Given the description of an element on the screen output the (x, y) to click on. 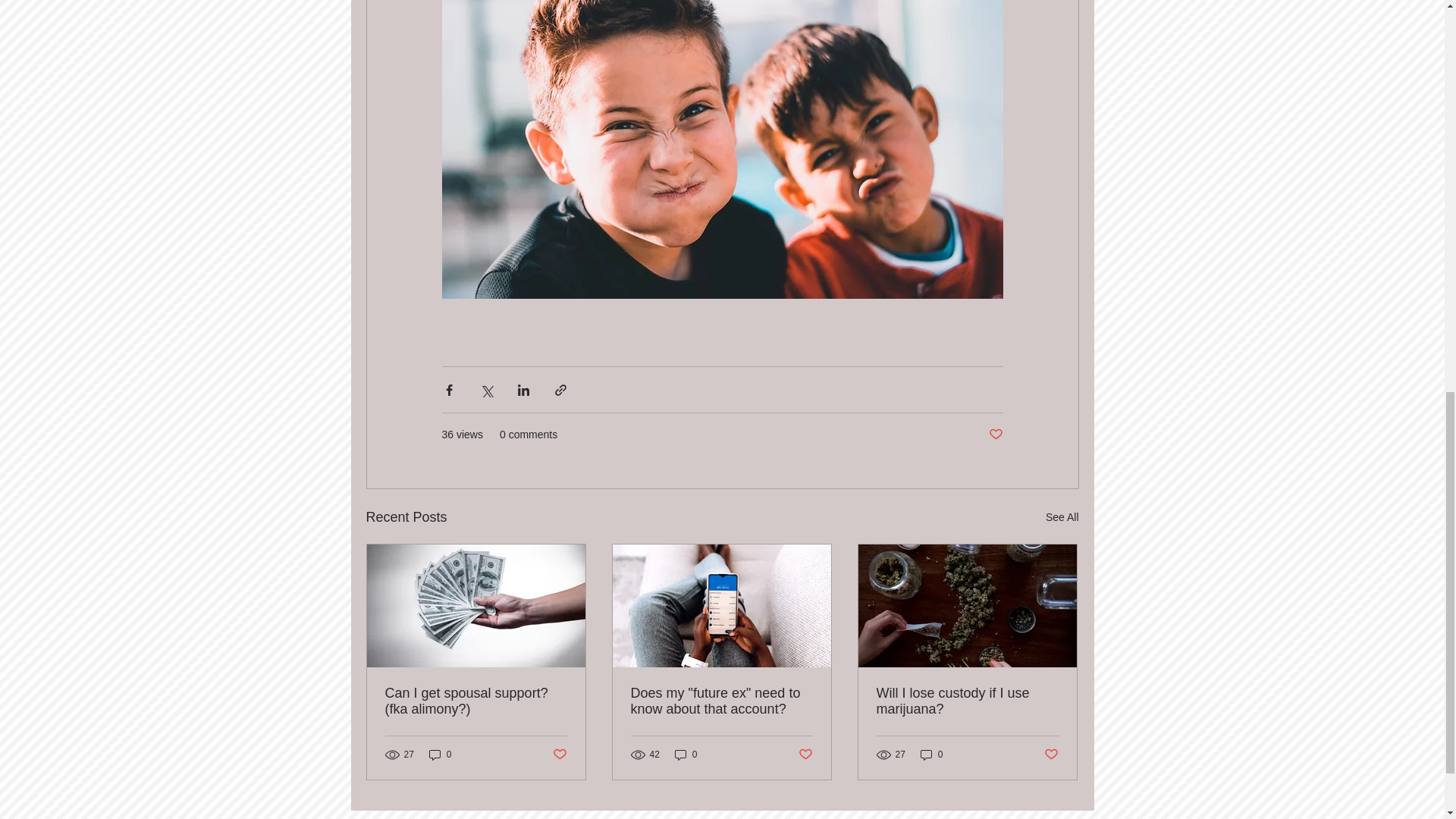
Post not marked as liked (995, 434)
0 (440, 754)
Will I lose custody if I use marijuana? (967, 701)
0 (685, 754)
See All (1061, 517)
0 (931, 754)
Post not marked as liked (1050, 754)
Does my "future ex" need to know about that account? (721, 701)
Post not marked as liked (558, 754)
Post not marked as liked (804, 754)
